Given the description of an element on the screen output the (x, y) to click on. 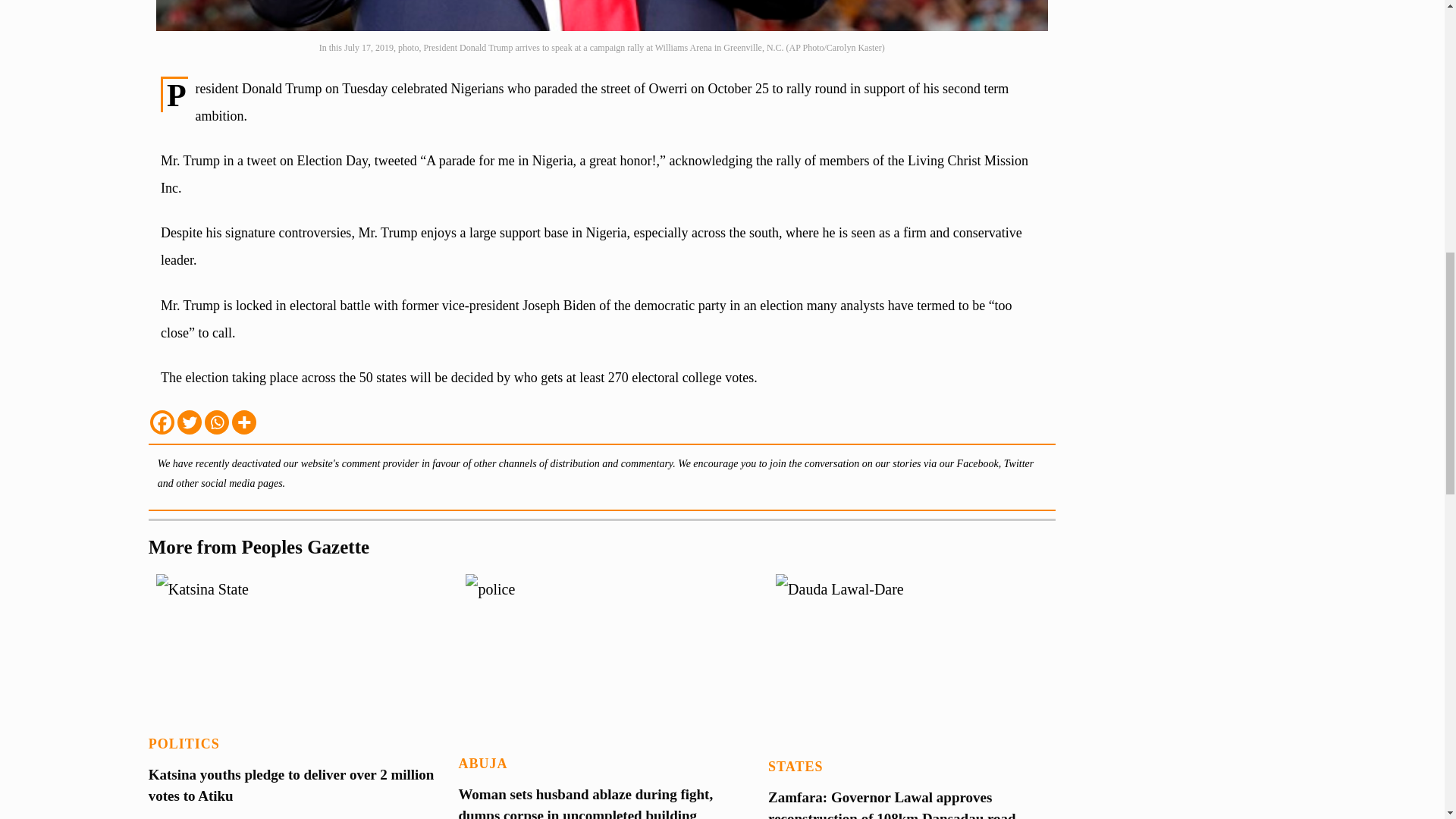
 Abuja (482, 763)
 Politics (183, 743)
Twitter (189, 422)
Whatsapp (216, 422)
Facebook (161, 422)
More (243, 422)
 States (795, 766)
ABUJA (482, 763)
POLITICS (183, 743)
